Given the description of an element on the screen output the (x, y) to click on. 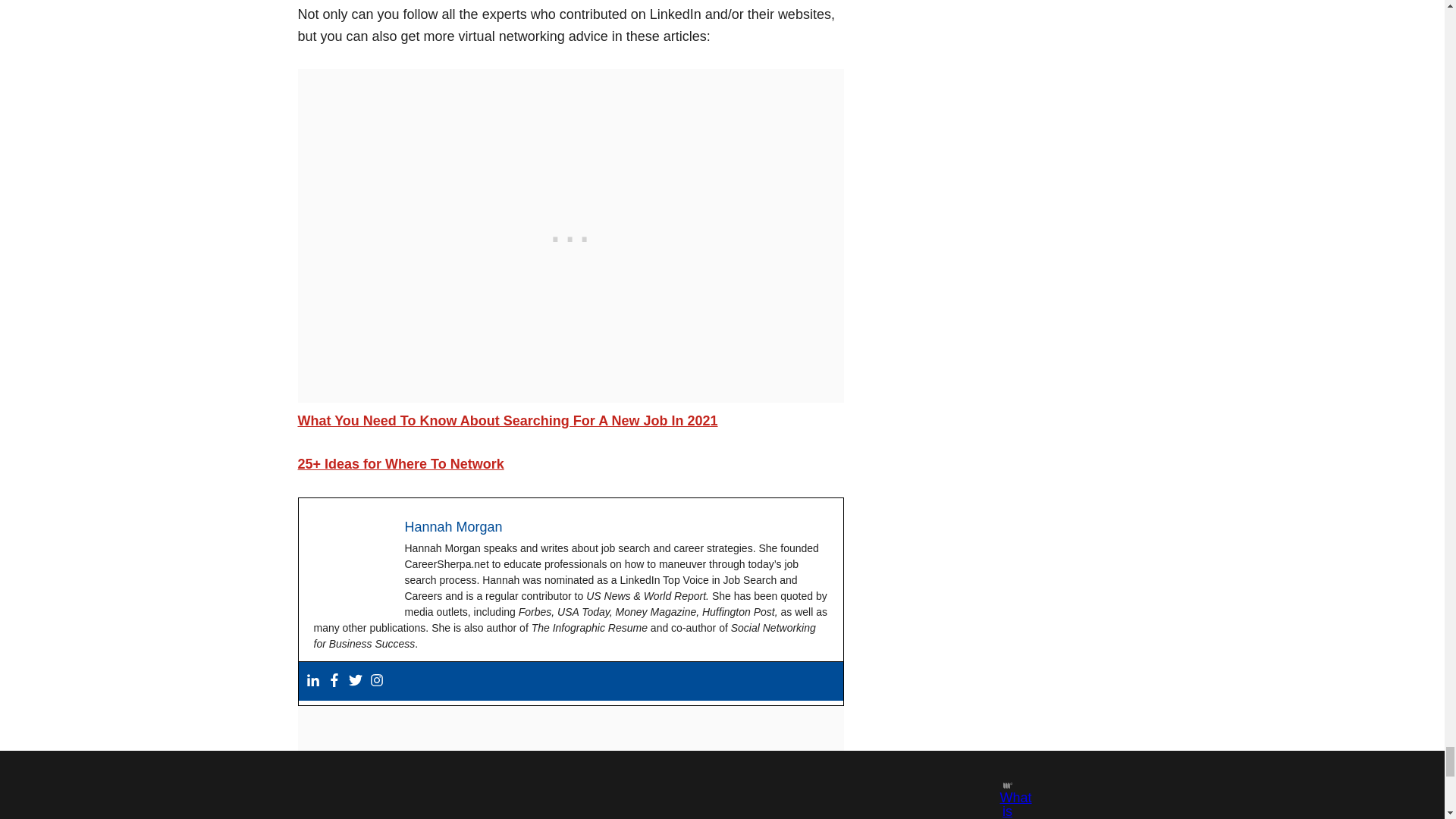
Instagram (376, 681)
Facebook (333, 681)
Linkedin (312, 681)
Twitter (355, 681)
